Given the description of an element on the screen output the (x, y) to click on. 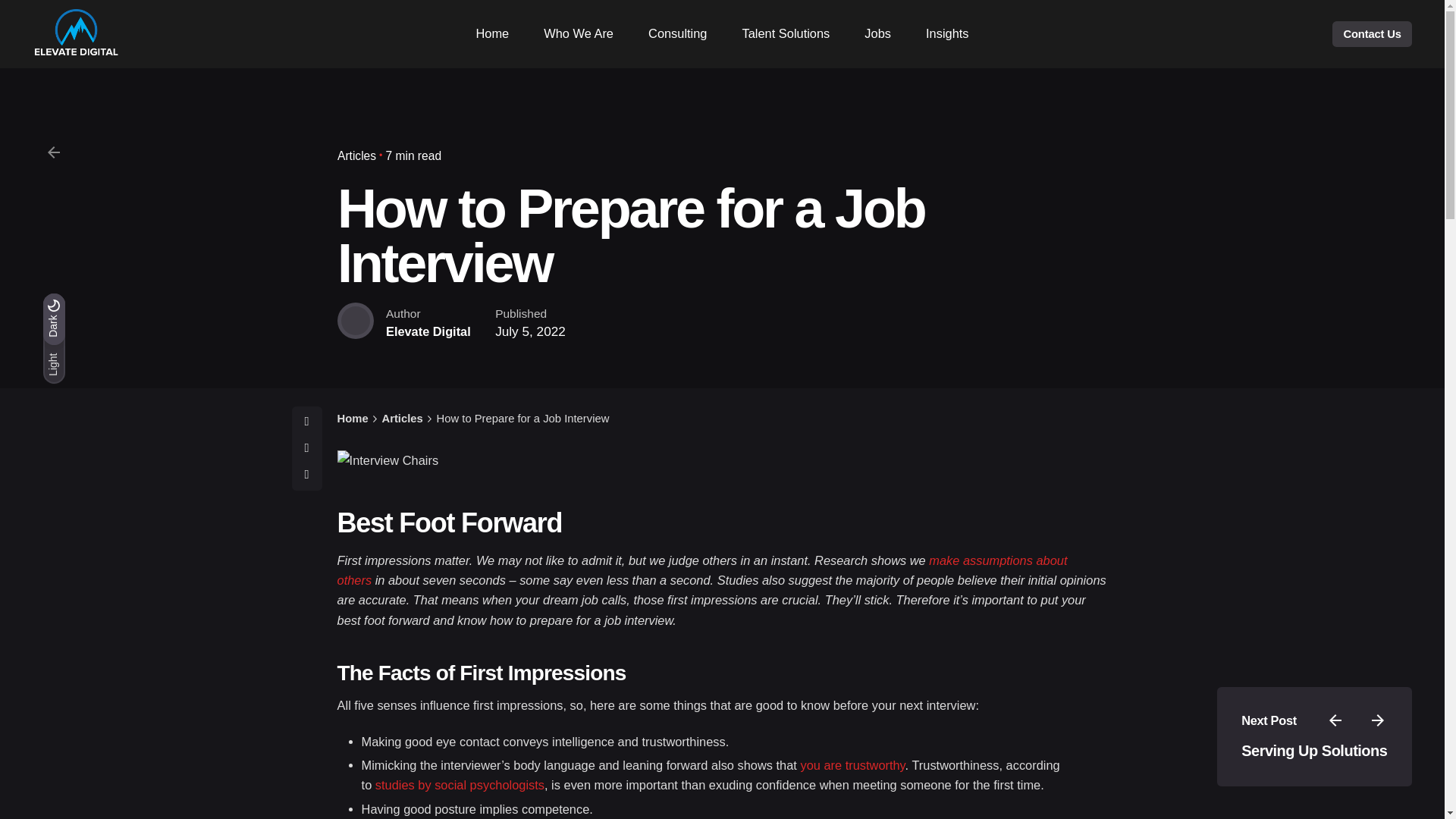
Talent Solutions (786, 33)
Home (491, 33)
Consulting (677, 33)
Jobs (877, 33)
Home (352, 418)
make assumptions about others  (702, 570)
Insights (947, 33)
Contact Us (1371, 33)
Articles (356, 155)
studies by social psychologists (459, 784)
Articles (401, 418)
you are trustworthy (851, 765)
Who We Are (577, 33)
